Given the description of an element on the screen output the (x, y) to click on. 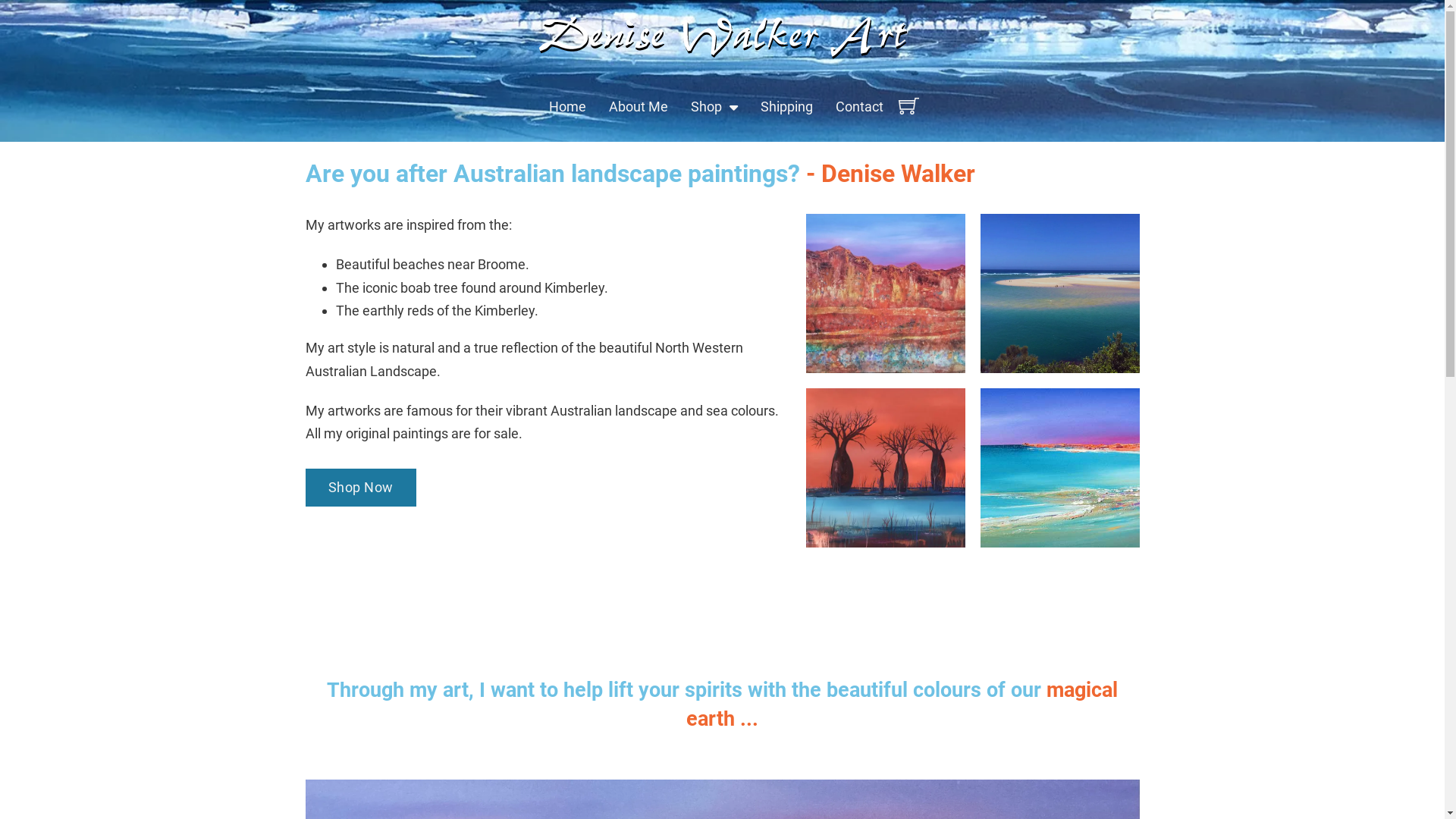
Shop Now Element type: text (359, 487)
Shop Element type: text (705, 107)
Home Element type: text (567, 107)
Contact Element type: text (859, 107)
iconic boab tree Element type: text (410, 287)
Shipping Element type: text (785, 107)
About Me Element type: text (637, 107)
